Given the description of an element on the screen output the (x, y) to click on. 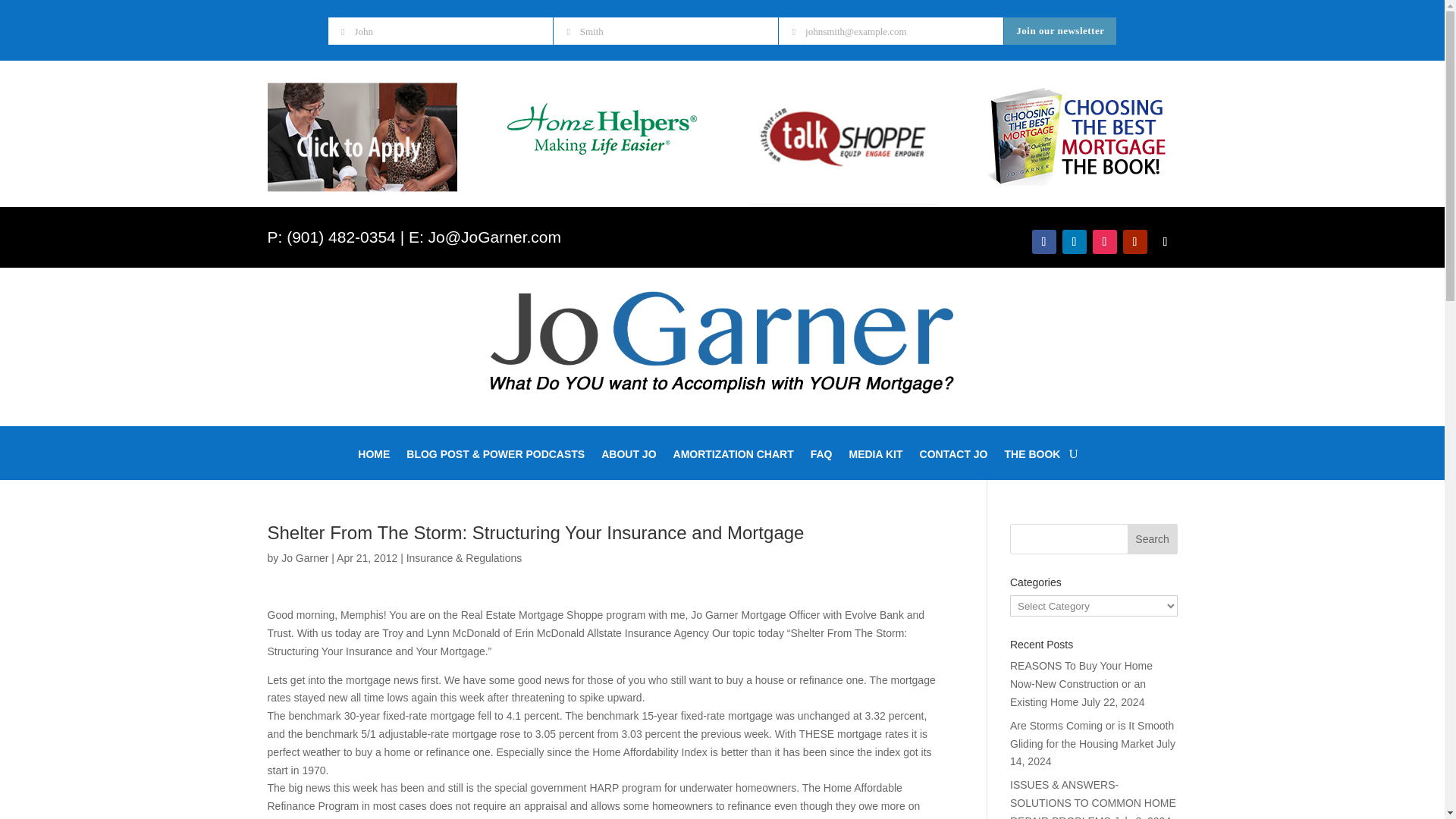
talkshoppe (842, 136)
logo-accomplish (722, 341)
Follow on Facebook (1042, 241)
AMORTIZATION CHART (732, 457)
THE BOOK (1032, 457)
Follow on Youtube (1134, 241)
ABOUT JO (628, 457)
HOME (374, 457)
Follow on Instagram (1104, 241)
BOOKLOGO copy (1078, 134)
MEDIA KIT (875, 457)
FAQ (821, 457)
CONTACT JO (954, 457)
Join our newsletter (1060, 31)
home-helpers-tagline-green (601, 131)
